Given the description of an element on the screen output the (x, y) to click on. 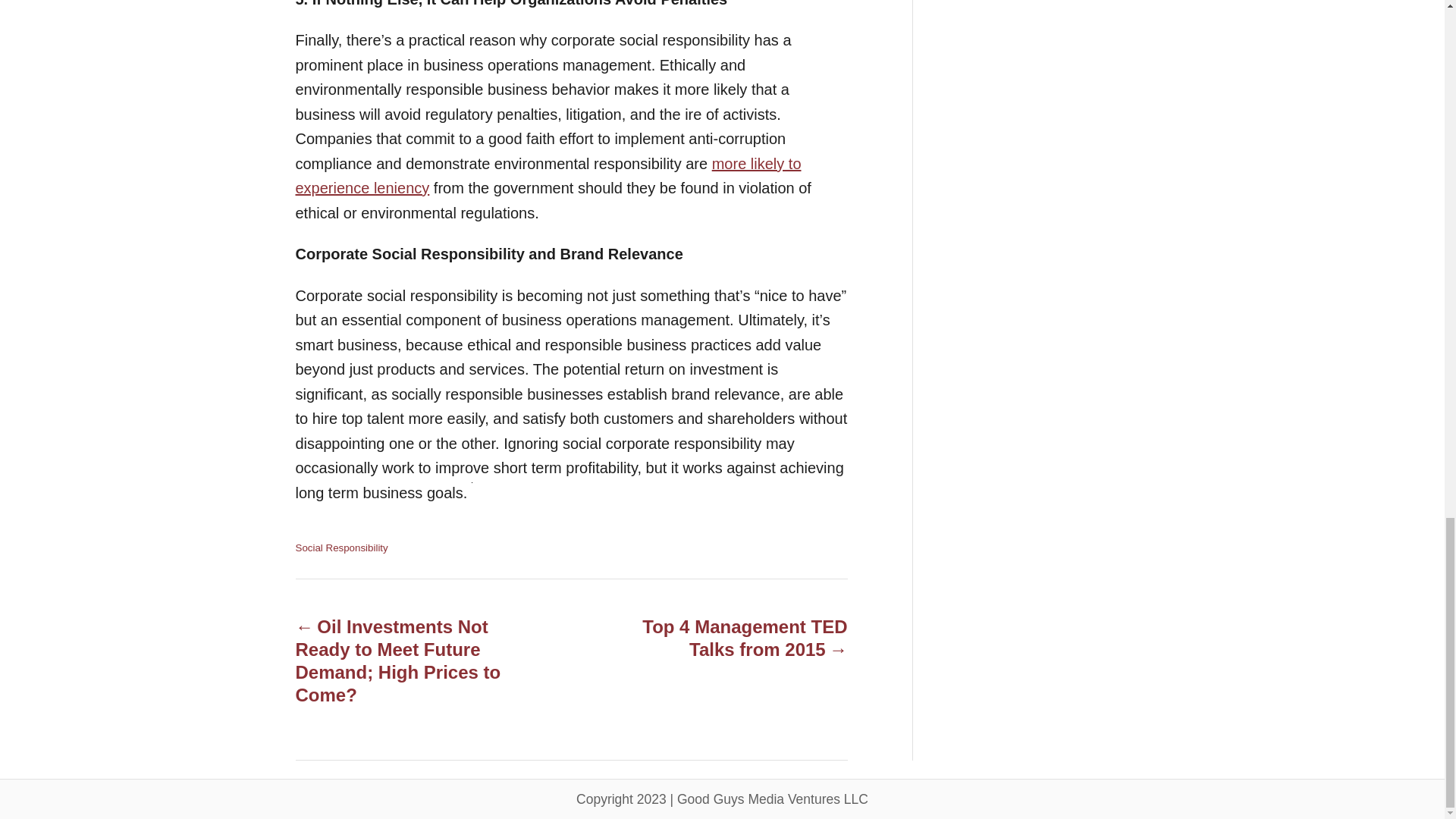
more likely to experience leniency (548, 176)
Social Responsibility (341, 547)
Top 4 Management TED Talks from 2015 (736, 637)
